Given the description of an element on the screen output the (x, y) to click on. 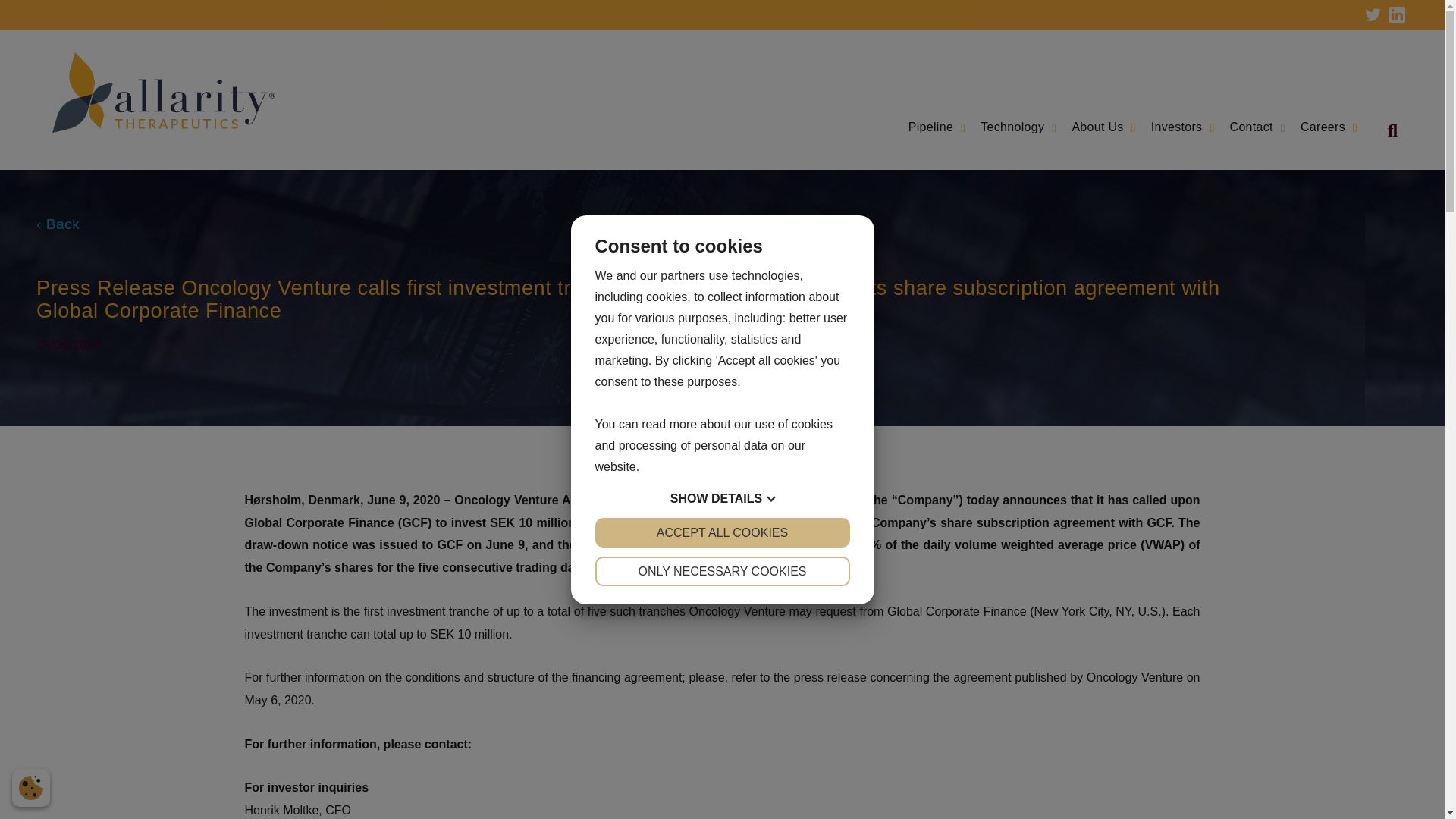
About Us (1103, 127)
Careers (1328, 127)
Technology (1018, 127)
Investors (1182, 127)
Contact (1257, 127)
Pipeline (937, 127)
